Given the description of an element on the screen output the (x, y) to click on. 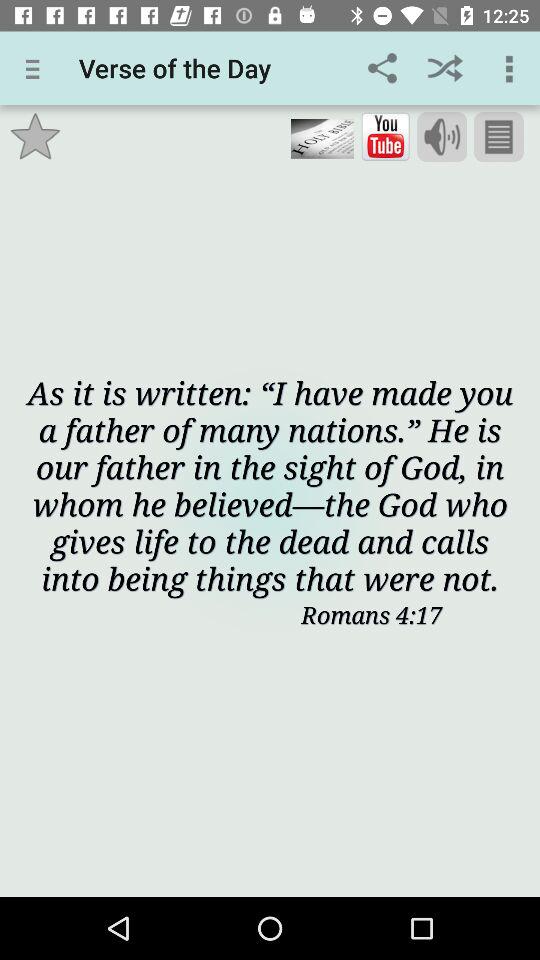
turn on the as it is icon (269, 484)
